Given the description of an element on the screen output the (x, y) to click on. 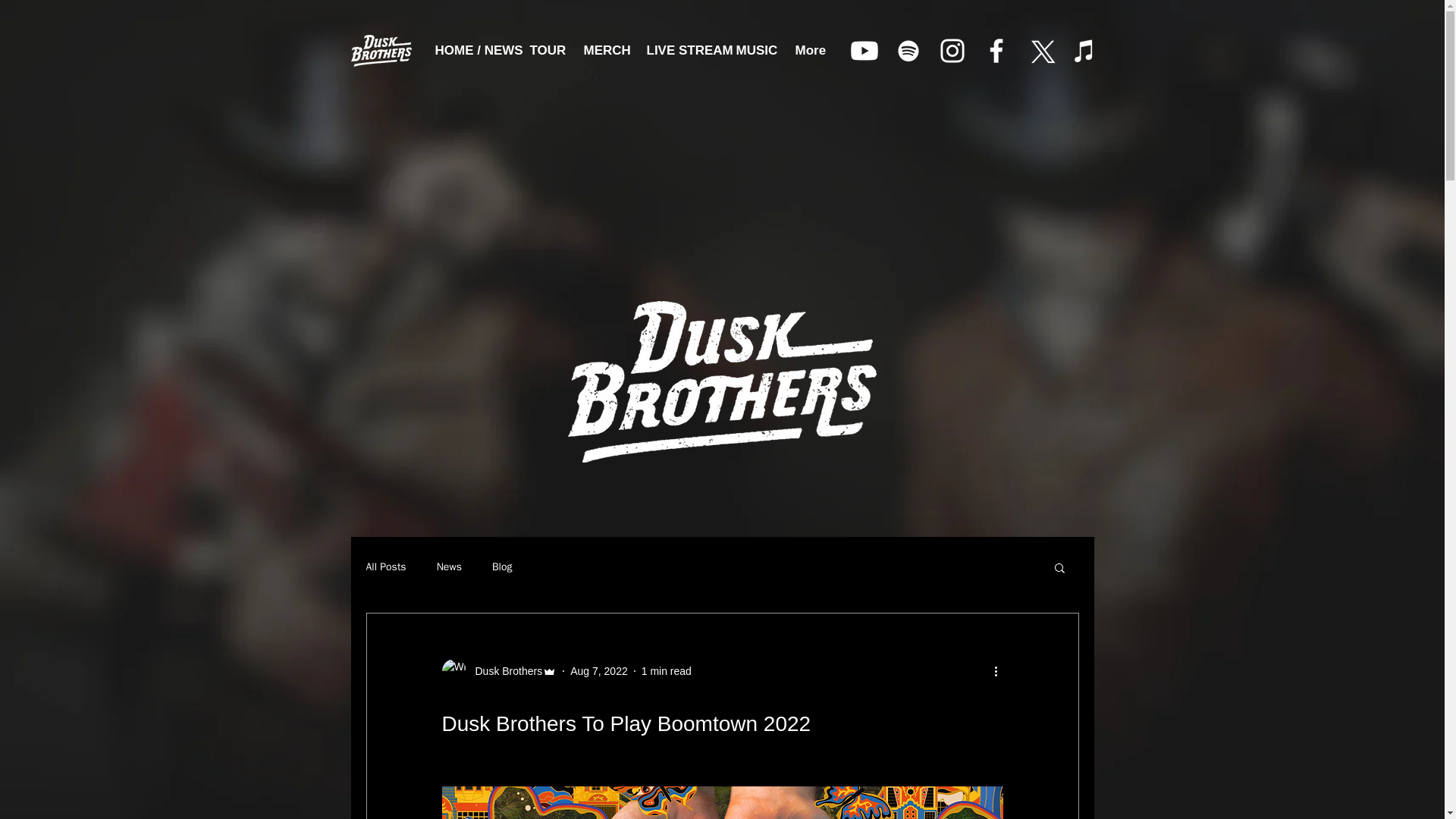
All Posts (385, 567)
Dusk Brothers (503, 670)
Dusk Brothers (498, 671)
MUSIC (754, 50)
MERCH (603, 50)
News (448, 567)
1 min read (666, 670)
LIVE STREAM (679, 50)
Blog (502, 567)
TOUR (545, 50)
Aug 7, 2022 (598, 670)
